Given the description of an element on the screen output the (x, y) to click on. 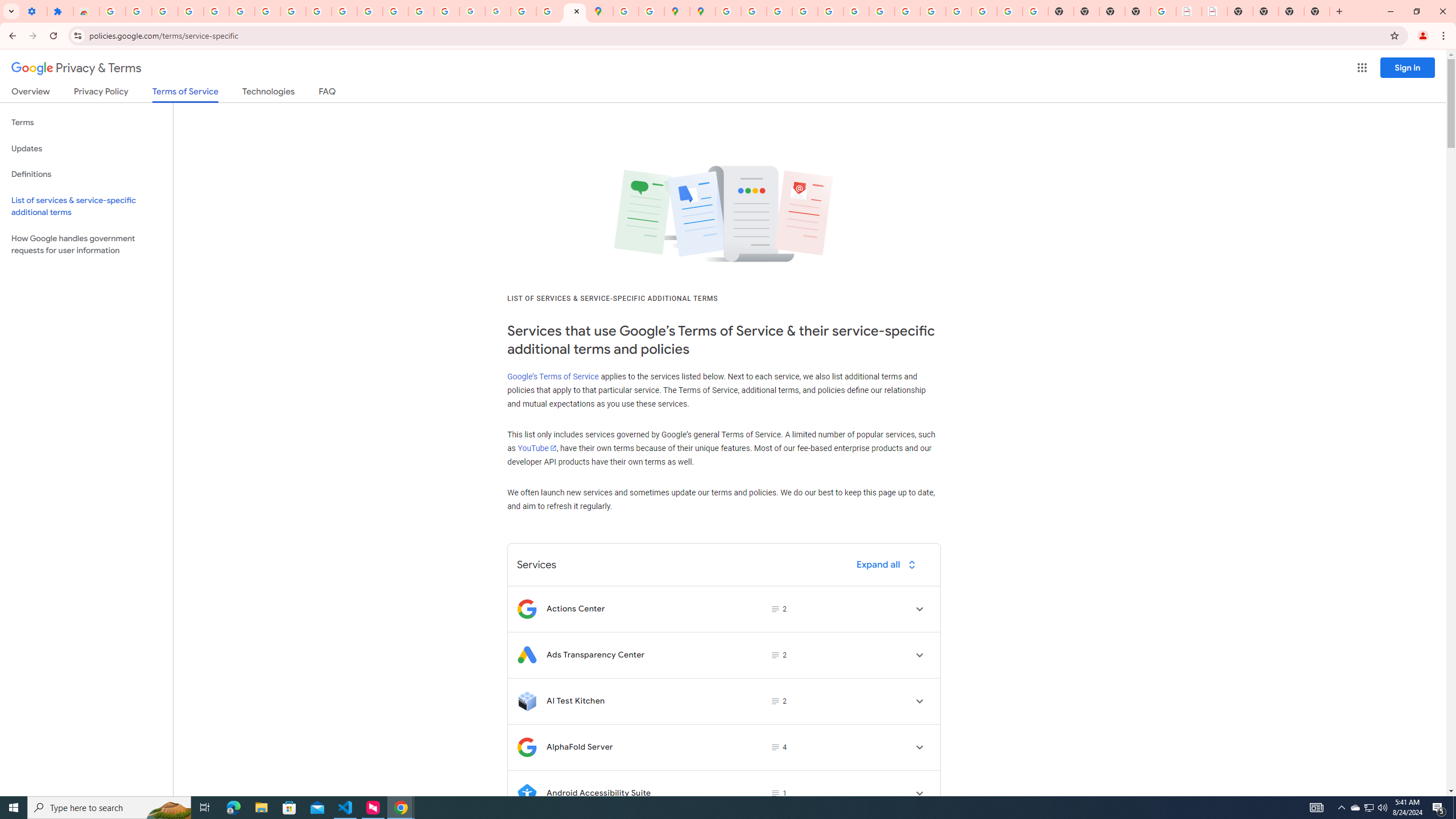
Logo for AI Test Kitchen (526, 700)
Logo for Android Accessibility Suite (526, 792)
Sign in - Google Accounts (112, 11)
Delete photos & videos - Computer - Google Photos Help (165, 11)
